Given the description of an element on the screen output the (x, y) to click on. 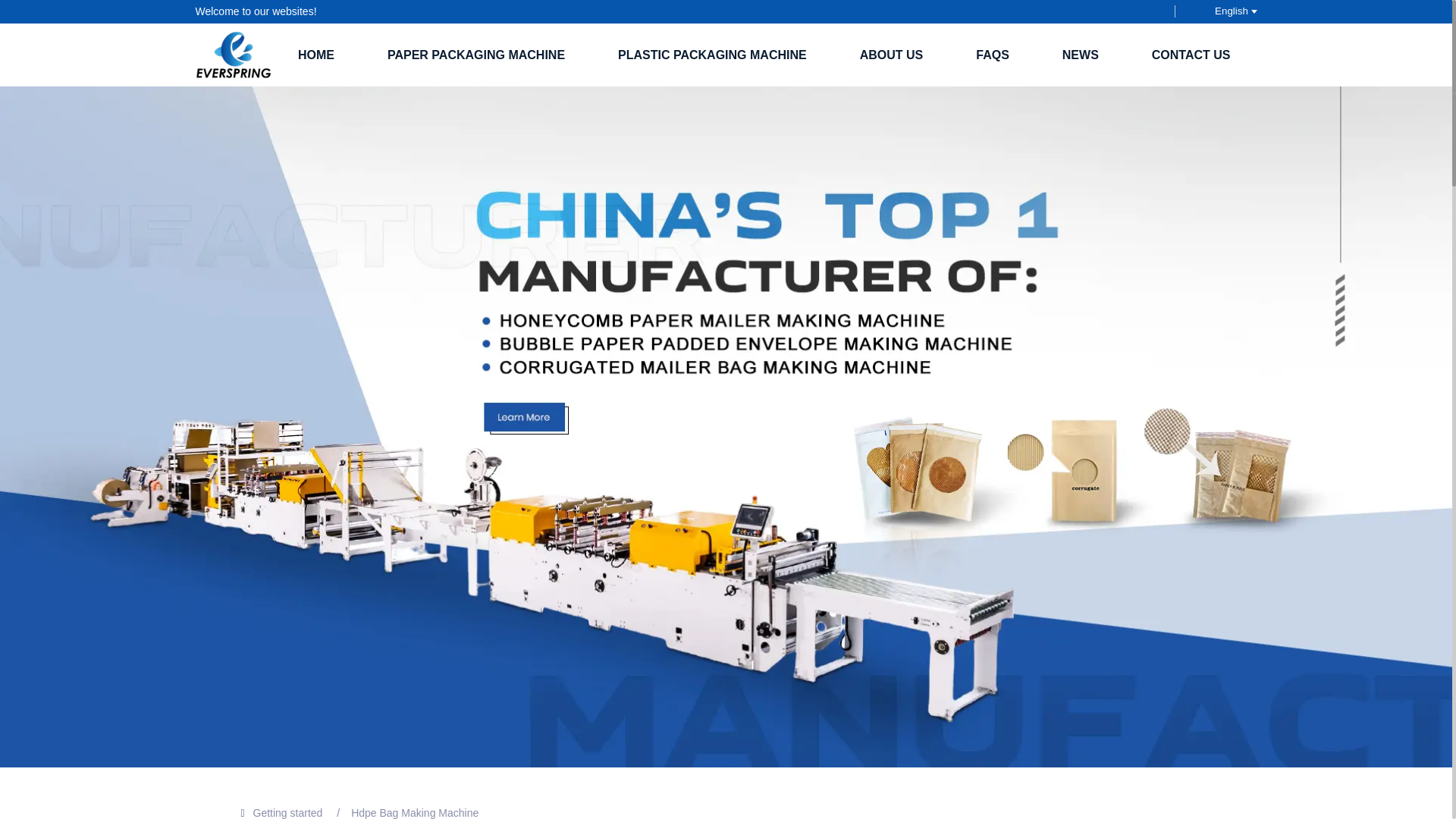
PAPER PACKAGING MACHINE (476, 54)
ABOUT US (891, 54)
Getting started (288, 812)
FAQS (992, 54)
CONTACT US (1191, 54)
PLASTIC PACKAGING MACHINE (711, 54)
HOME (315, 54)
NEWS (1080, 54)
English (1222, 10)
Hdpe Bag Making Machine (414, 812)
